Given the description of an element on the screen output the (x, y) to click on. 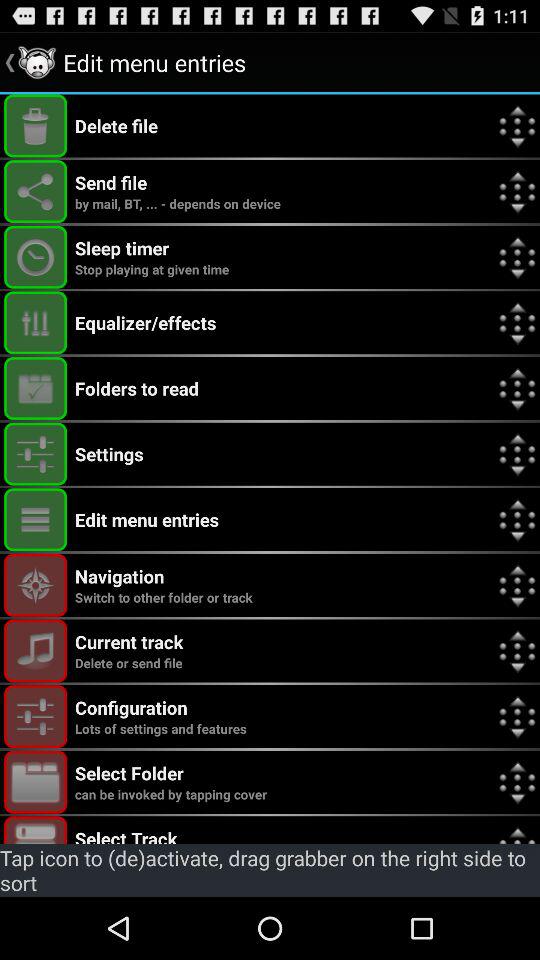
this button is used to change configuration (35, 716)
